Given the description of an element on the screen output the (x, y) to click on. 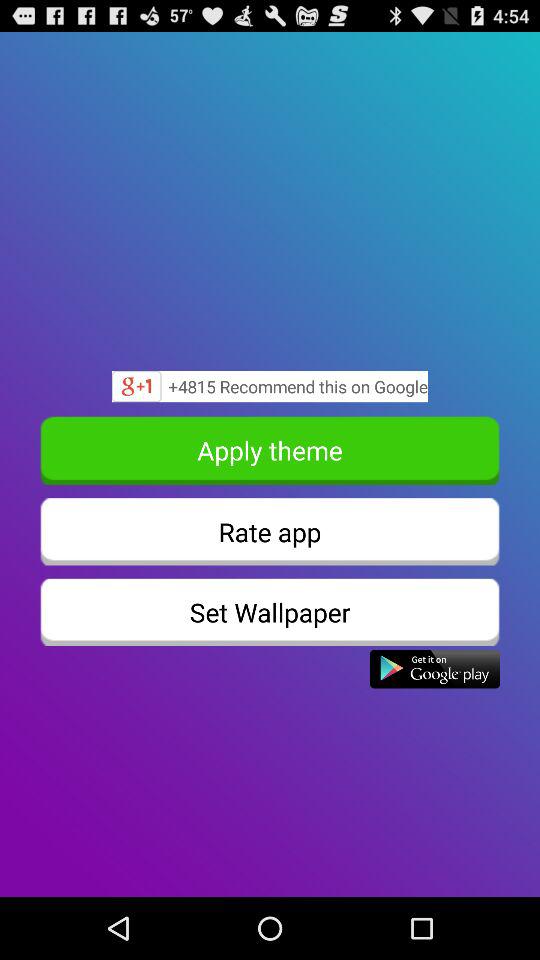
turn off the rate app item (269, 531)
